Given the description of an element on the screen output the (x, y) to click on. 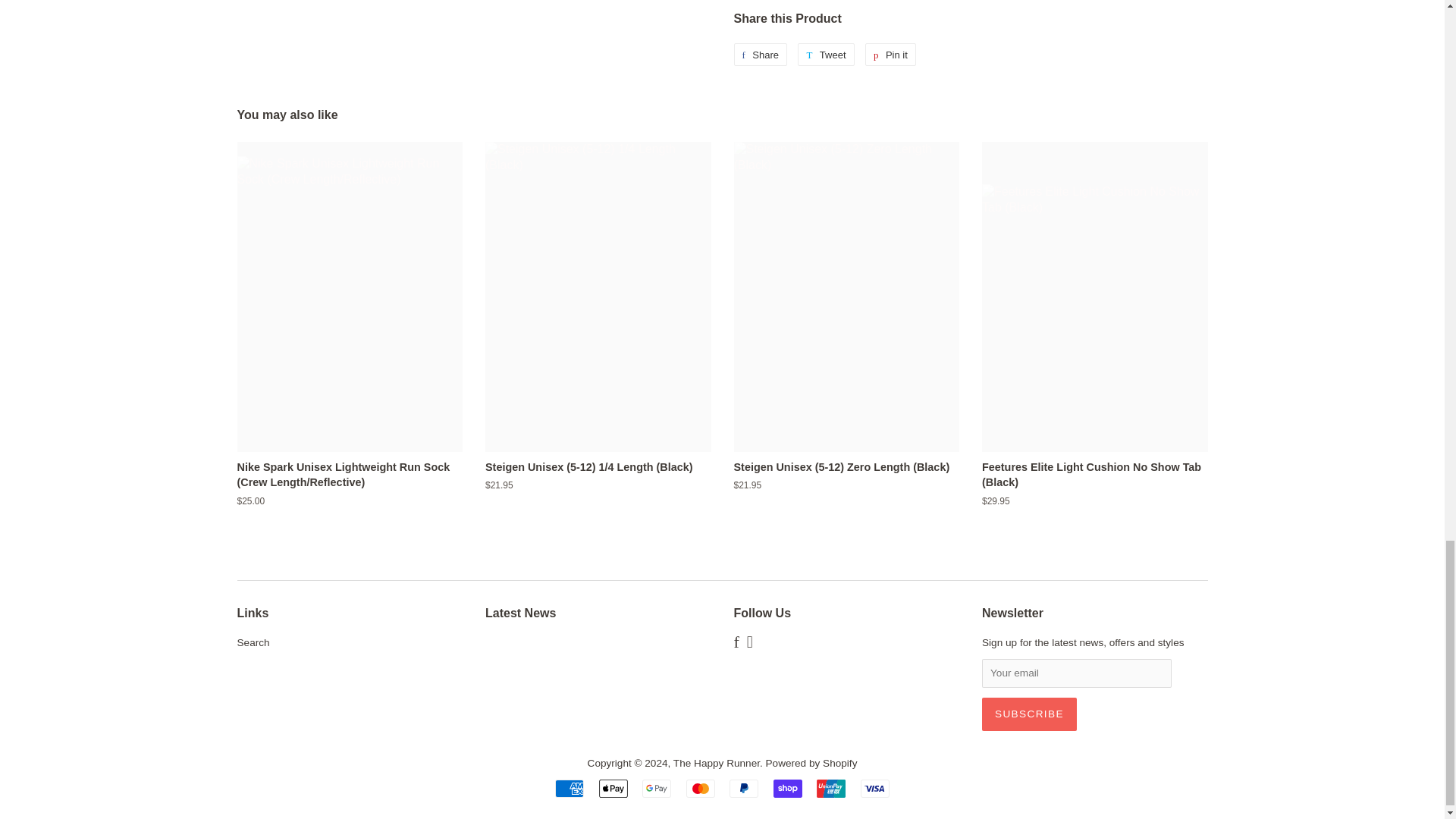
Shop Pay (787, 788)
Mastercard (699, 788)
Pin on Pinterest (889, 54)
American Express (568, 788)
PayPal (743, 788)
Apple Pay (612, 788)
Tweet on Twitter (825, 54)
Visa (874, 788)
Share on Facebook (760, 54)
Subscribe (1029, 714)
Union Pay (830, 788)
Google Pay (656, 788)
